Given the description of an element on the screen output the (x, y) to click on. 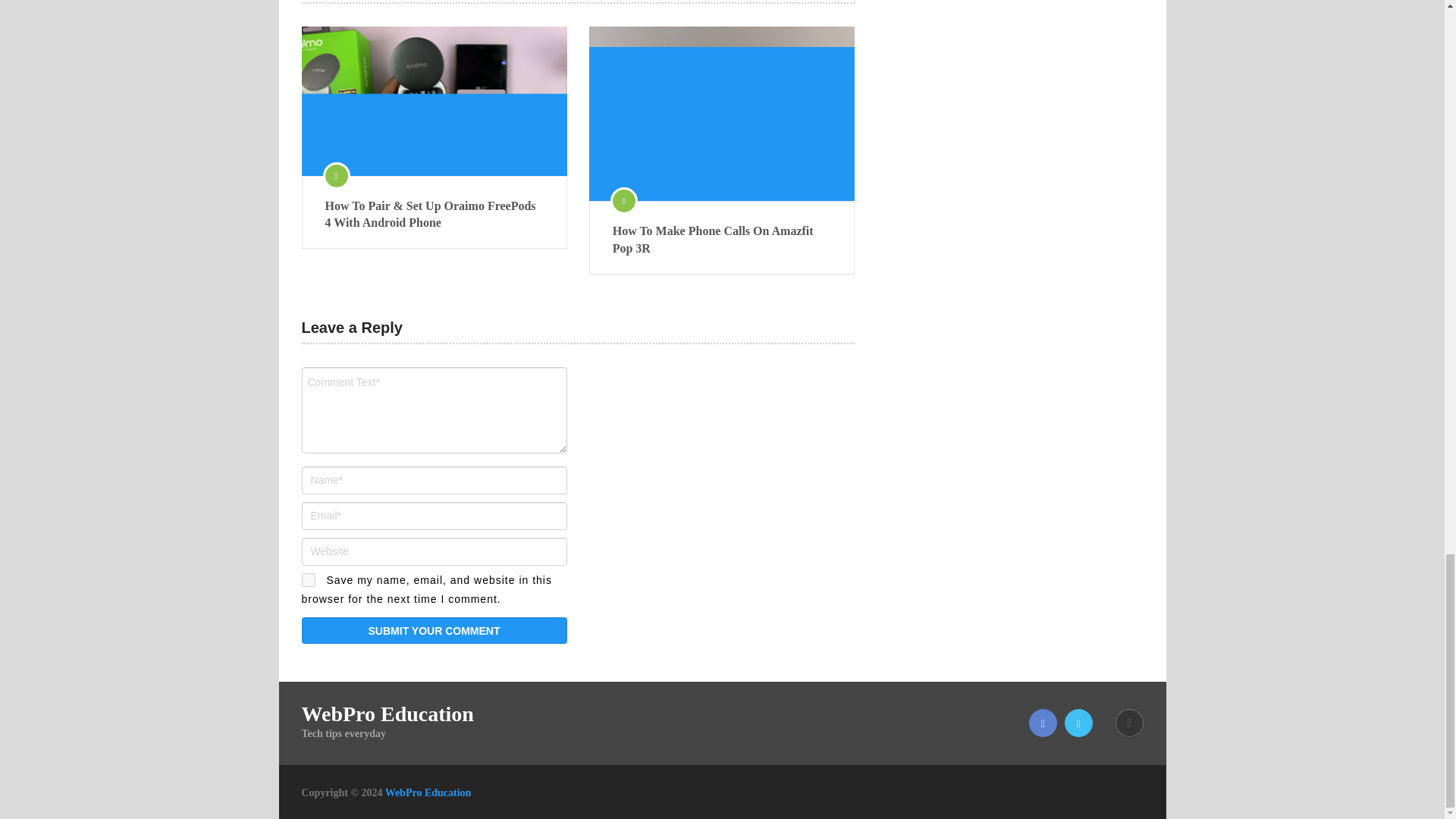
How To Make Phone Calls On Amazfit Pop 3R (721, 113)
Submit Your Comment (434, 630)
Submit Your Comment (434, 630)
How To Make Phone Calls On Amazfit Pop 3R (721, 239)
yes (308, 580)
How To Make Phone Calls On Amazfit Pop 3R (721, 239)
 Tech tips everyday (428, 792)
